Given the description of an element on the screen output the (x, y) to click on. 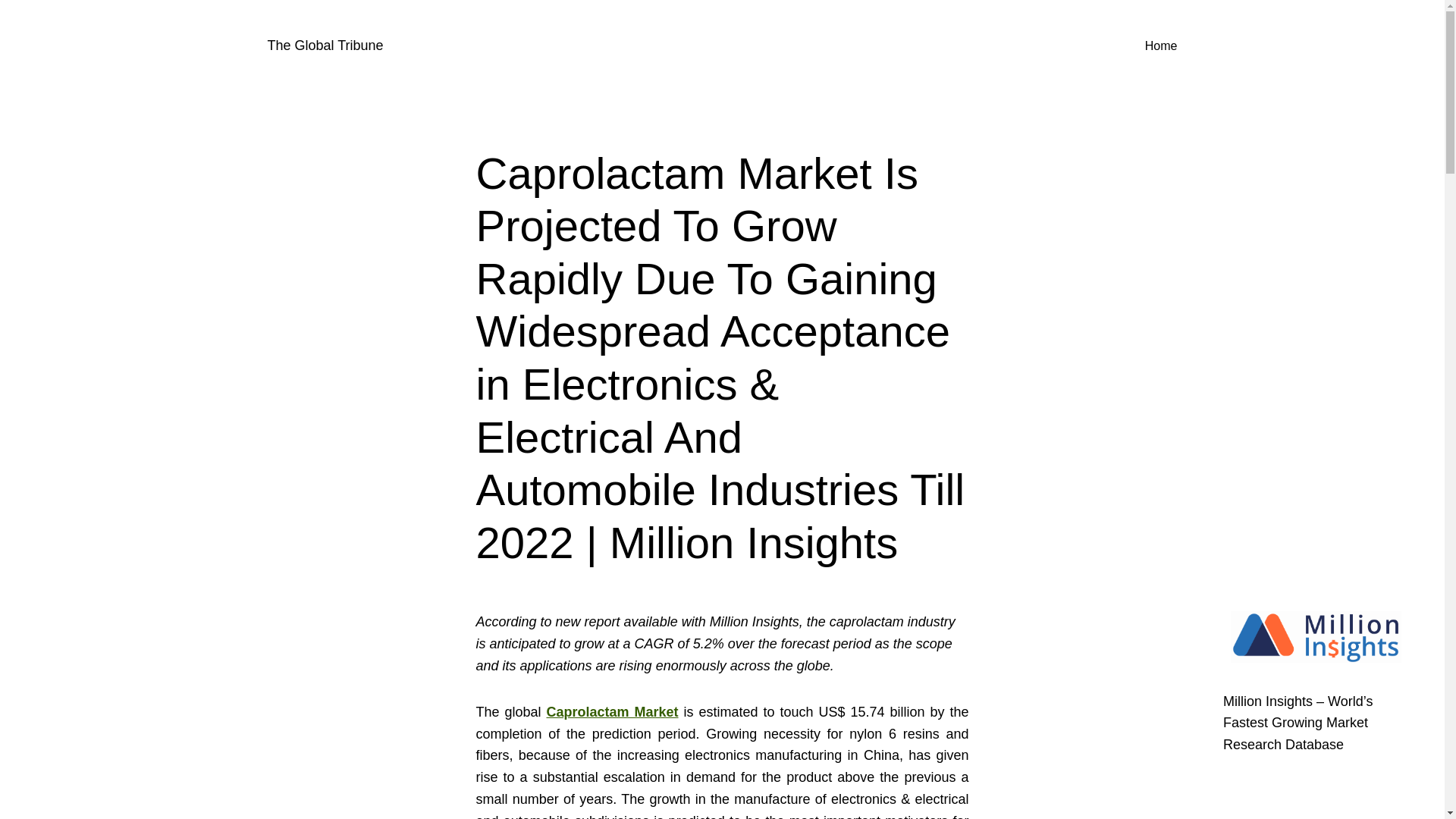
Home (1160, 46)
The Global Tribune (324, 45)
Caprolactam Market (612, 711)
